Given the description of an element on the screen output the (x, y) to click on. 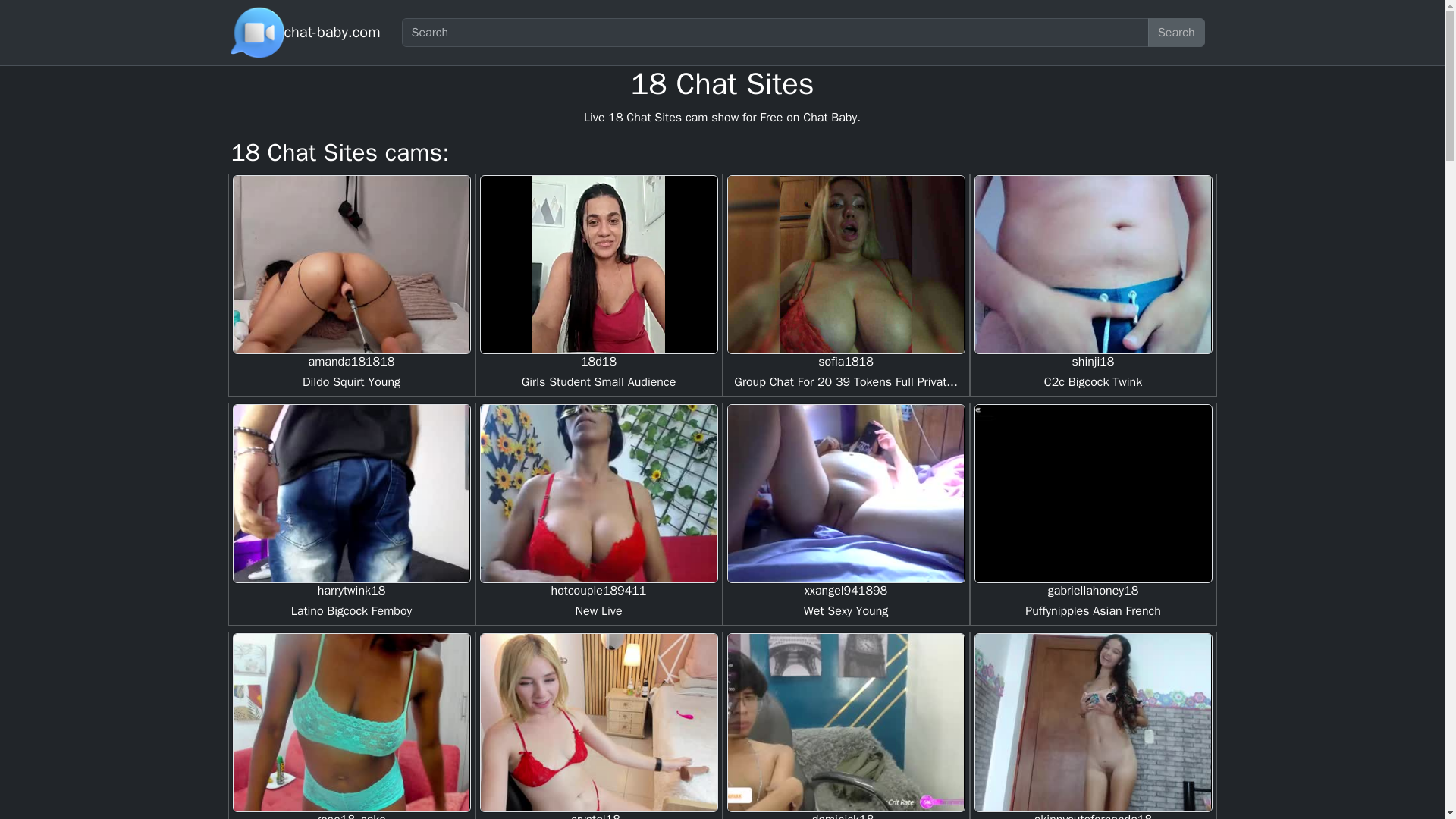
chat-baby.com (331, 32)
Search (1176, 32)
